Given the description of an element on the screen output the (x, y) to click on. 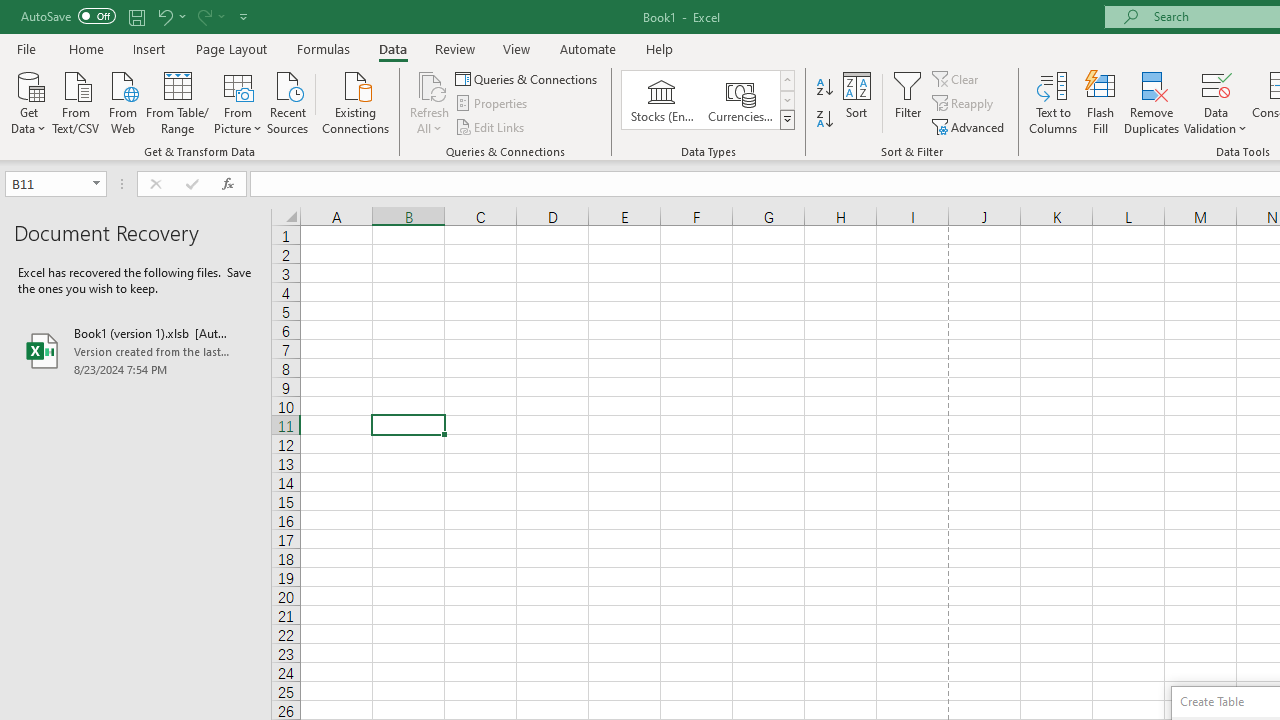
Remove Duplicates (1151, 102)
From Picture (238, 101)
From Text/CSV (75, 101)
Advanced... (970, 126)
Stocks (English) (662, 100)
Recent Sources (287, 101)
